Given the description of an element on the screen output the (x, y) to click on. 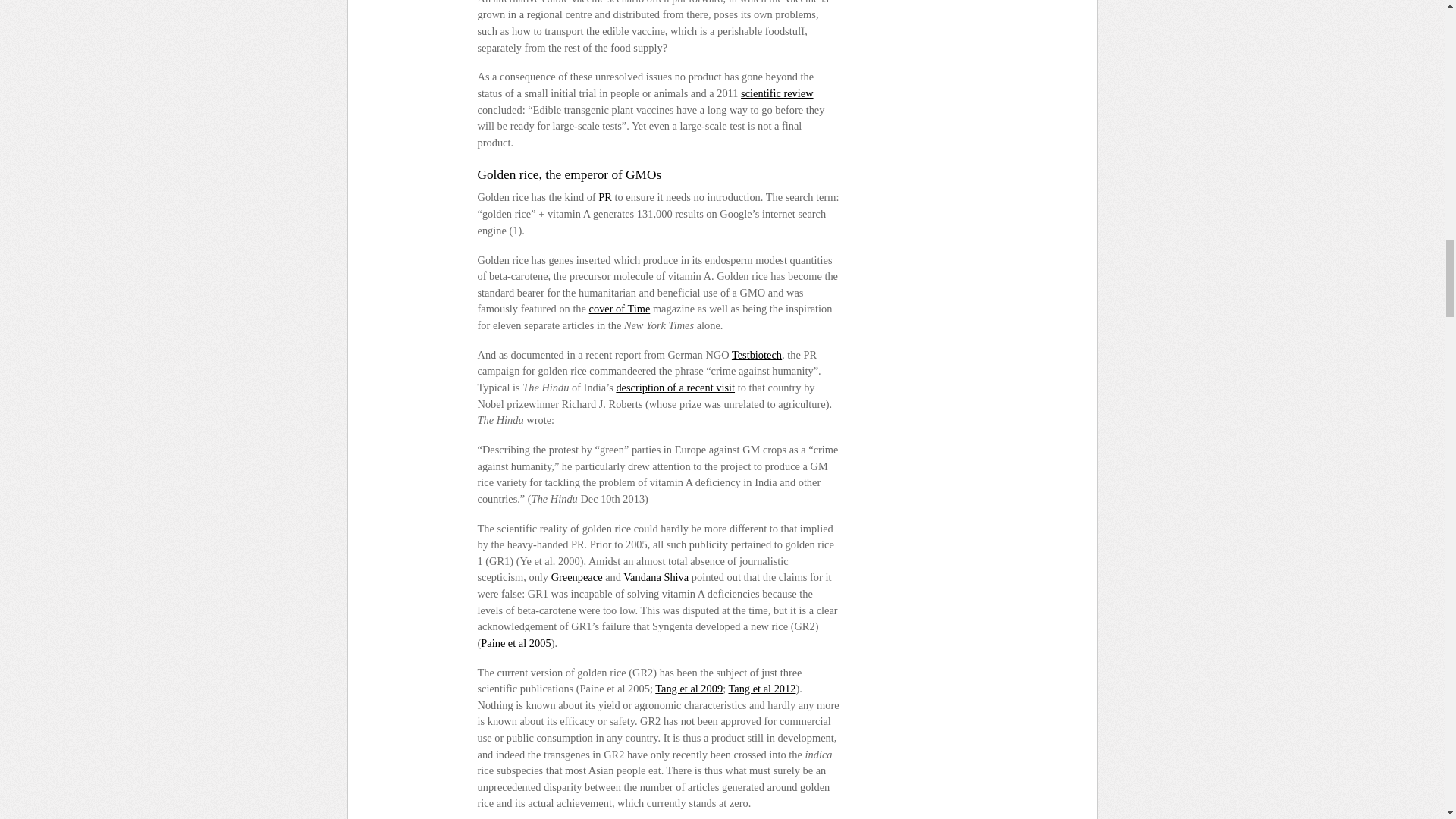
Vandana Shiva (655, 576)
scientific review (777, 92)
description of a recent visit (675, 387)
Testbiotech (756, 354)
PR (604, 196)
Greenpeace (576, 576)
cover of Time (619, 308)
